Given the description of an element on the screen output the (x, y) to click on. 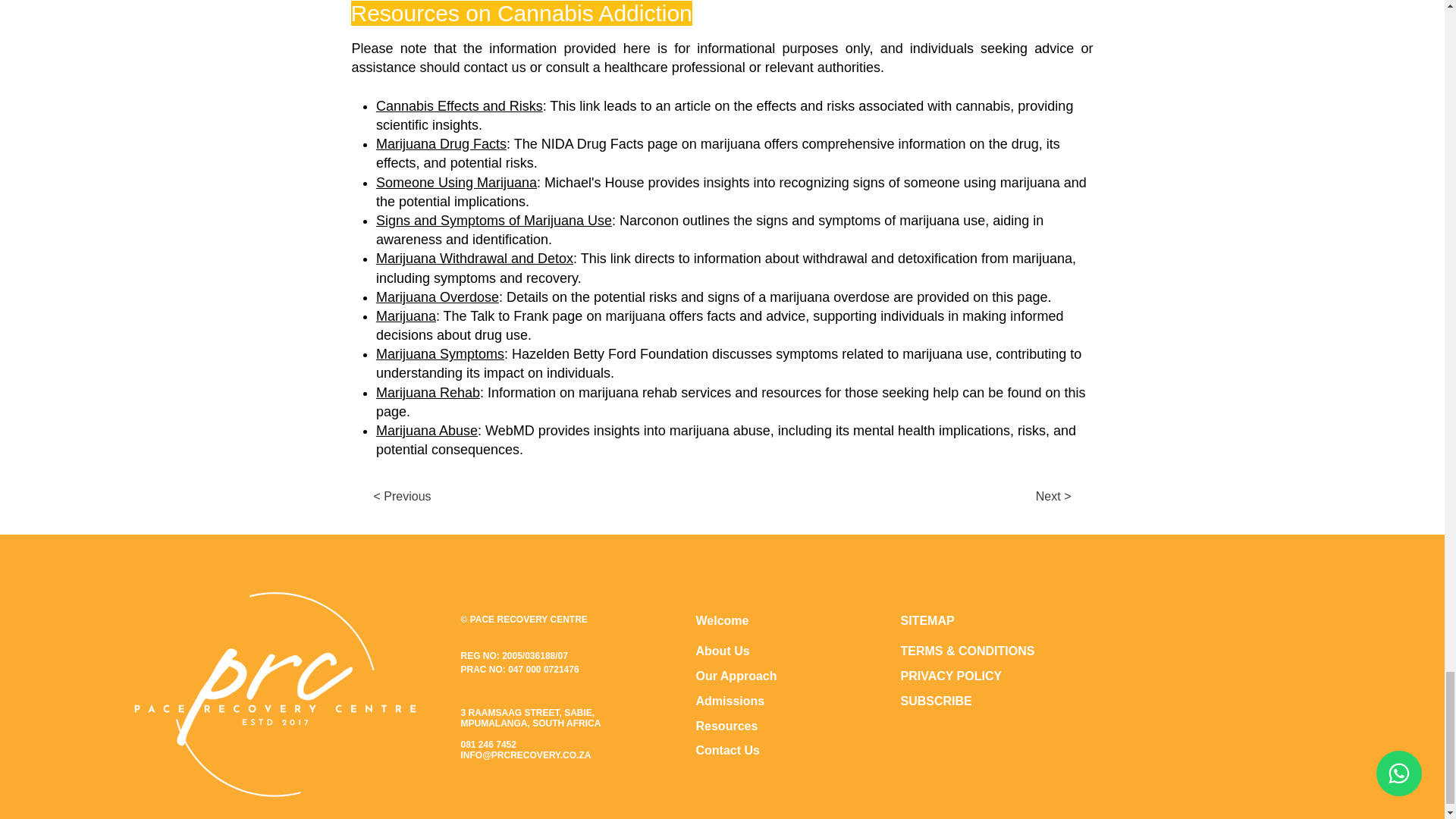
Someone Using Marijuana (456, 182)
Marijuana Overdose (437, 296)
Cannabis Effects and Risks (459, 105)
Marijuana Symptoms (439, 353)
Signs and Symptoms of Marijuana Use (493, 220)
Marijuana (405, 315)
Marijuana Drug Facts (440, 143)
Marijuana Withdrawal and Detox (474, 258)
Marijuana Rehab (427, 392)
Marijuana Abuse (426, 430)
